Given the description of an element on the screen output the (x, y) to click on. 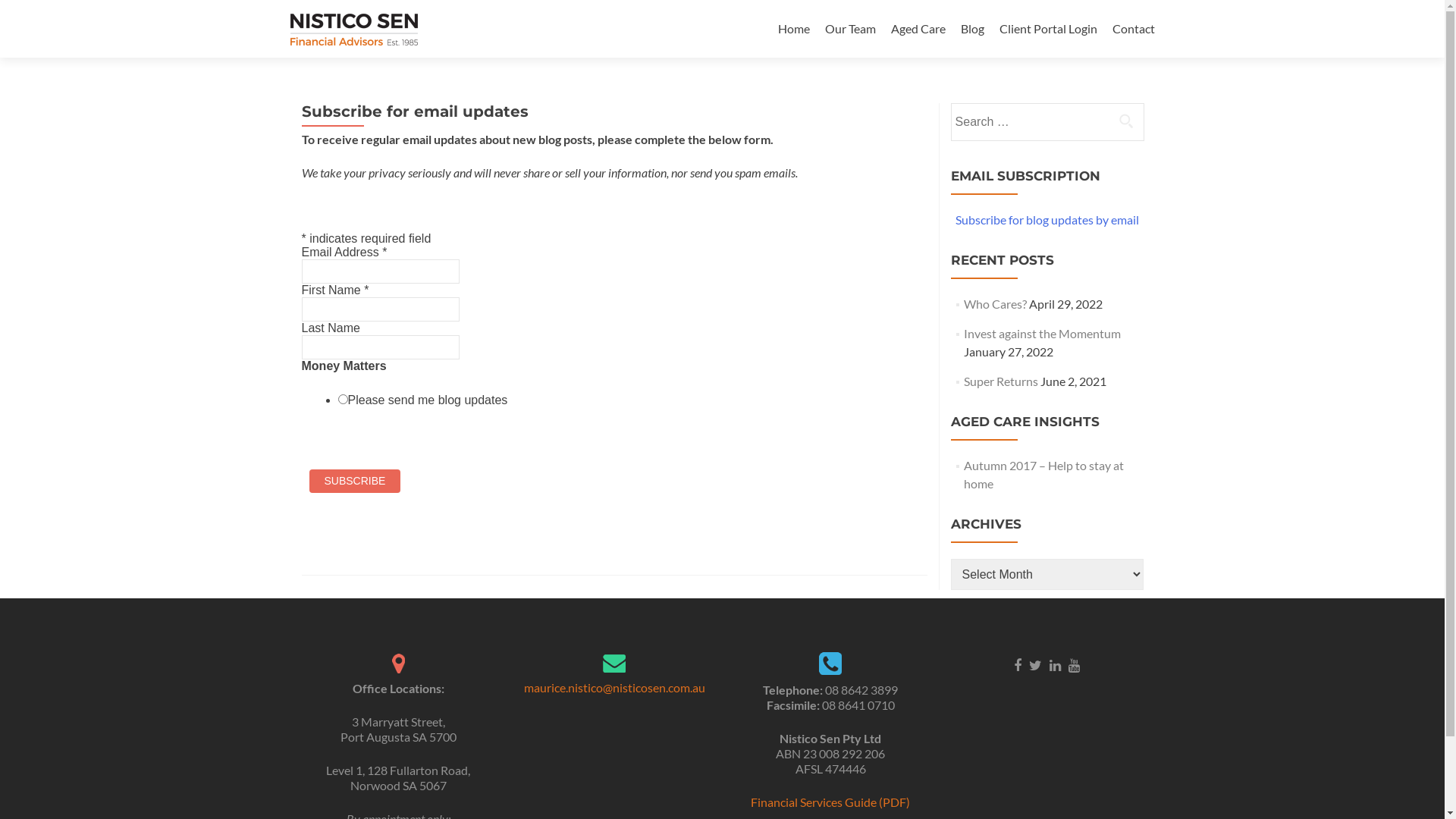
Our Team Element type: text (850, 28)
Blog Element type: text (971, 28)
Home Element type: text (793, 28)
Search Element type: text (1125, 120)
Subscribe Element type: text (355, 480)
Client Portal Login Element type: text (1048, 28)
Invest against the Momentum Element type: text (1041, 333)
maurice.nistico@nisticosen.com.au Element type: text (613, 687)
Aged Care Element type: text (917, 28)
Subscribe for blog updates by email Element type: text (1047, 219)
Super Returns Element type: text (1000, 380)
Who Cares? Element type: text (994, 303)
Contact Element type: text (1132, 28)
Financial Services Guide (PDF) Element type: text (830, 801)
